Given the description of an element on the screen output the (x, y) to click on. 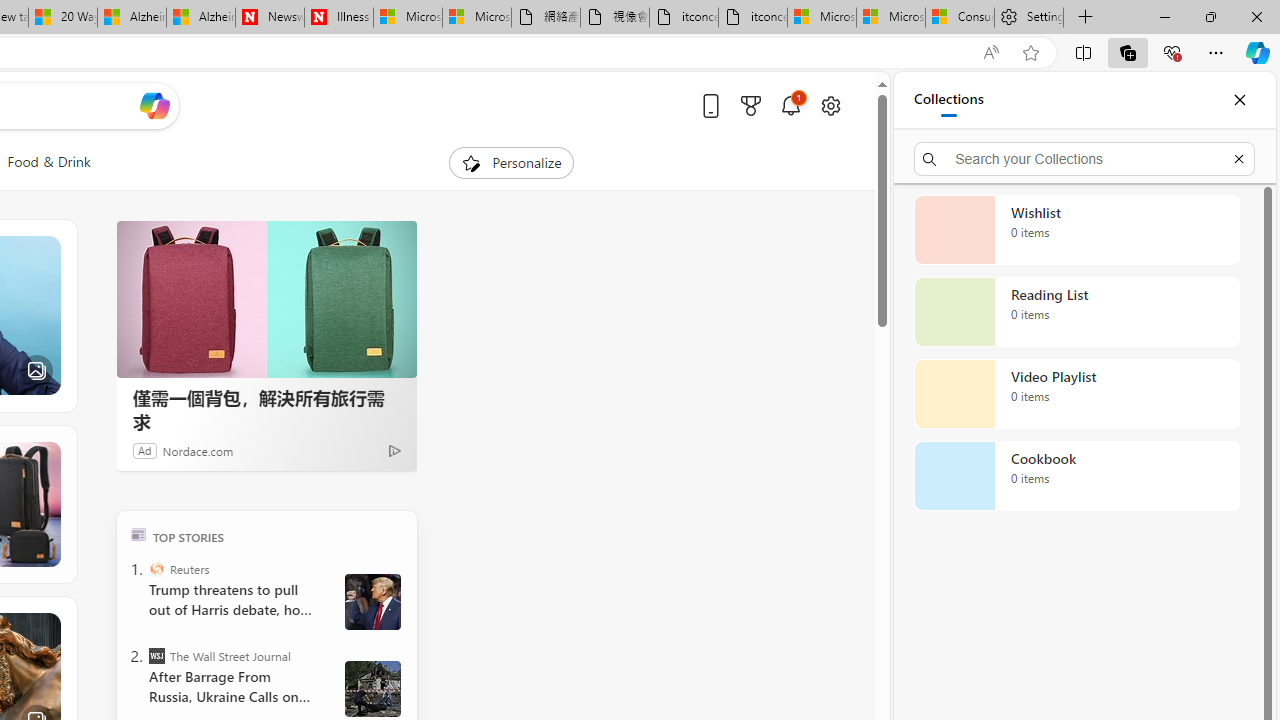
Settings and more (Alt+F) (1215, 52)
Browser essentials (1171, 52)
Restore (1210, 16)
20 Ways to Boost Your Protein Intake at Every Meal (63, 17)
Food & Drink (48, 162)
Notifications (790, 105)
Illness news & latest pictures from Newsweek.com (338, 17)
New Tab (1085, 17)
Video Playlist collection, 0 items (1076, 394)
Reading List collection, 0 items (1076, 312)
Collections (1128, 52)
Open Copilot (155, 105)
Cookbook collection, 0 items (1076, 475)
Consumer Health Data Privacy Policy (959, 17)
Nordace.com (198, 450)
